Given the description of an element on the screen output the (x, y) to click on. 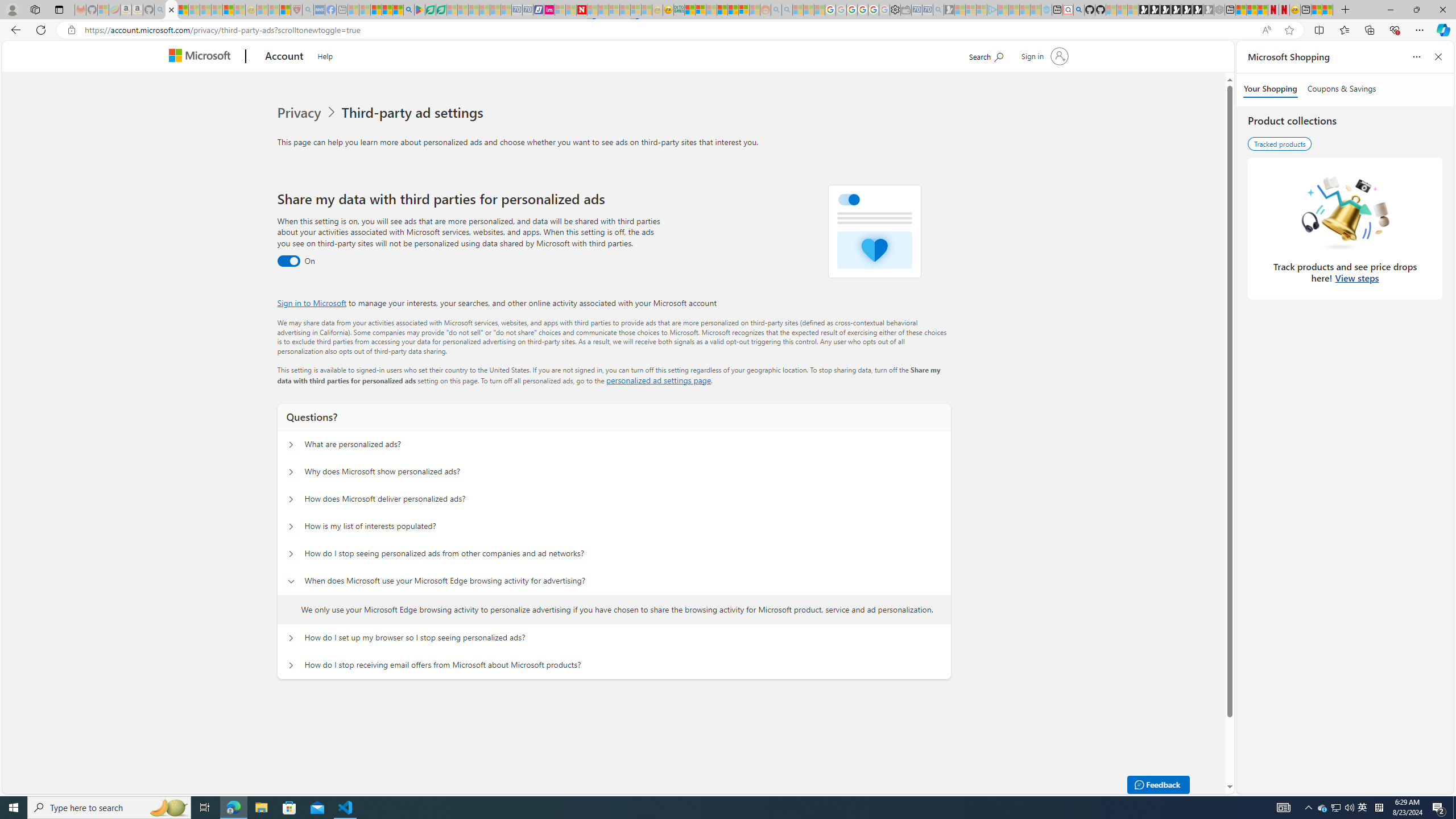
Pets - MSN (387, 9)
Microsoft Word - consumer-privacy address update 2.2021 (440, 9)
Local - MSN (285, 9)
